Given the description of an element on the screen output the (x, y) to click on. 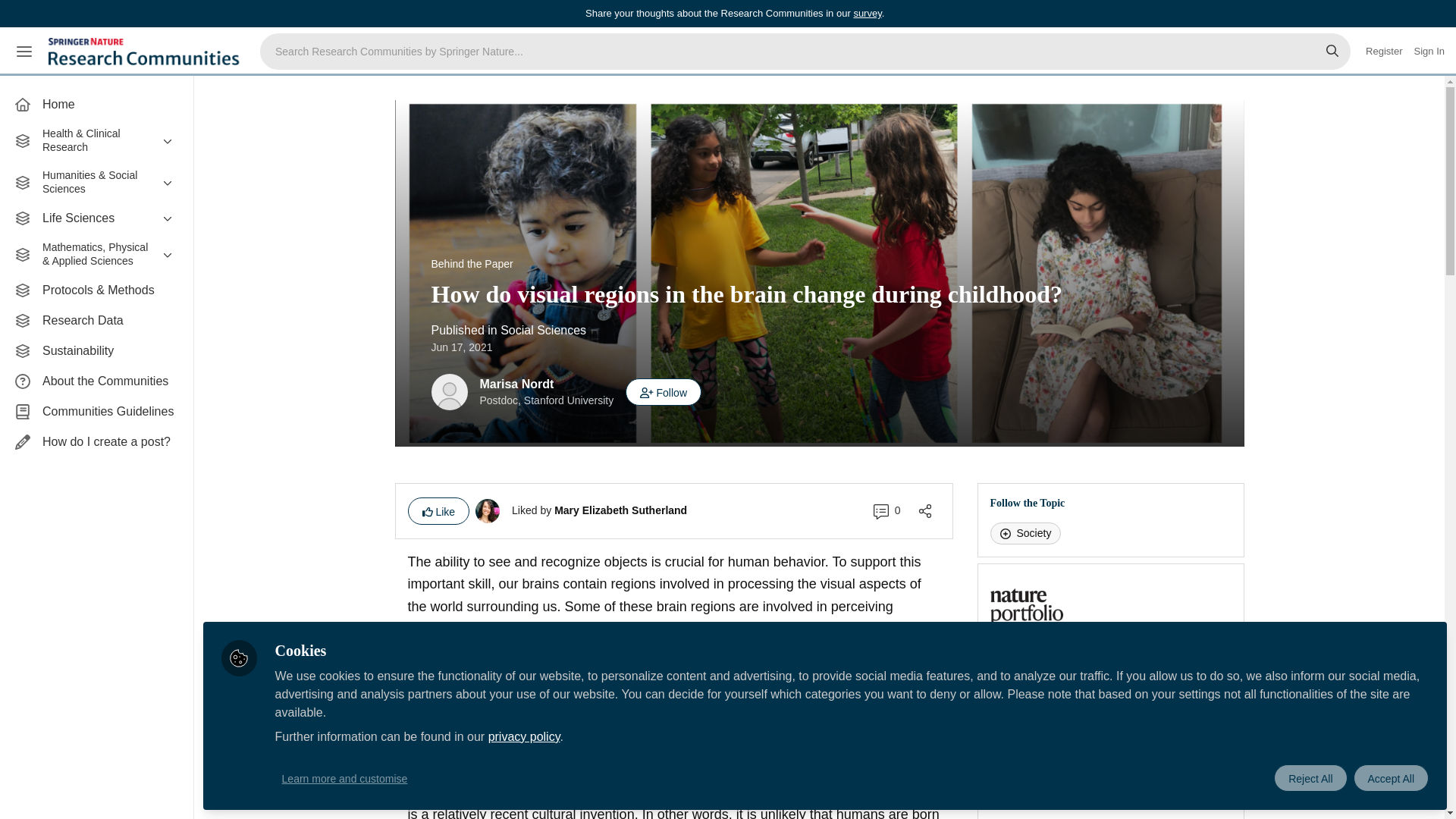
survey (866, 12)
Research Communities by Springer Nature (146, 51)
Sign In (1428, 51)
Menu (24, 51)
Life Sciences (96, 217)
Register (1383, 51)
Home (96, 103)
Search (1332, 51)
Life Sciences (96, 217)
Home (96, 103)
